Given the description of an element on the screen output the (x, y) to click on. 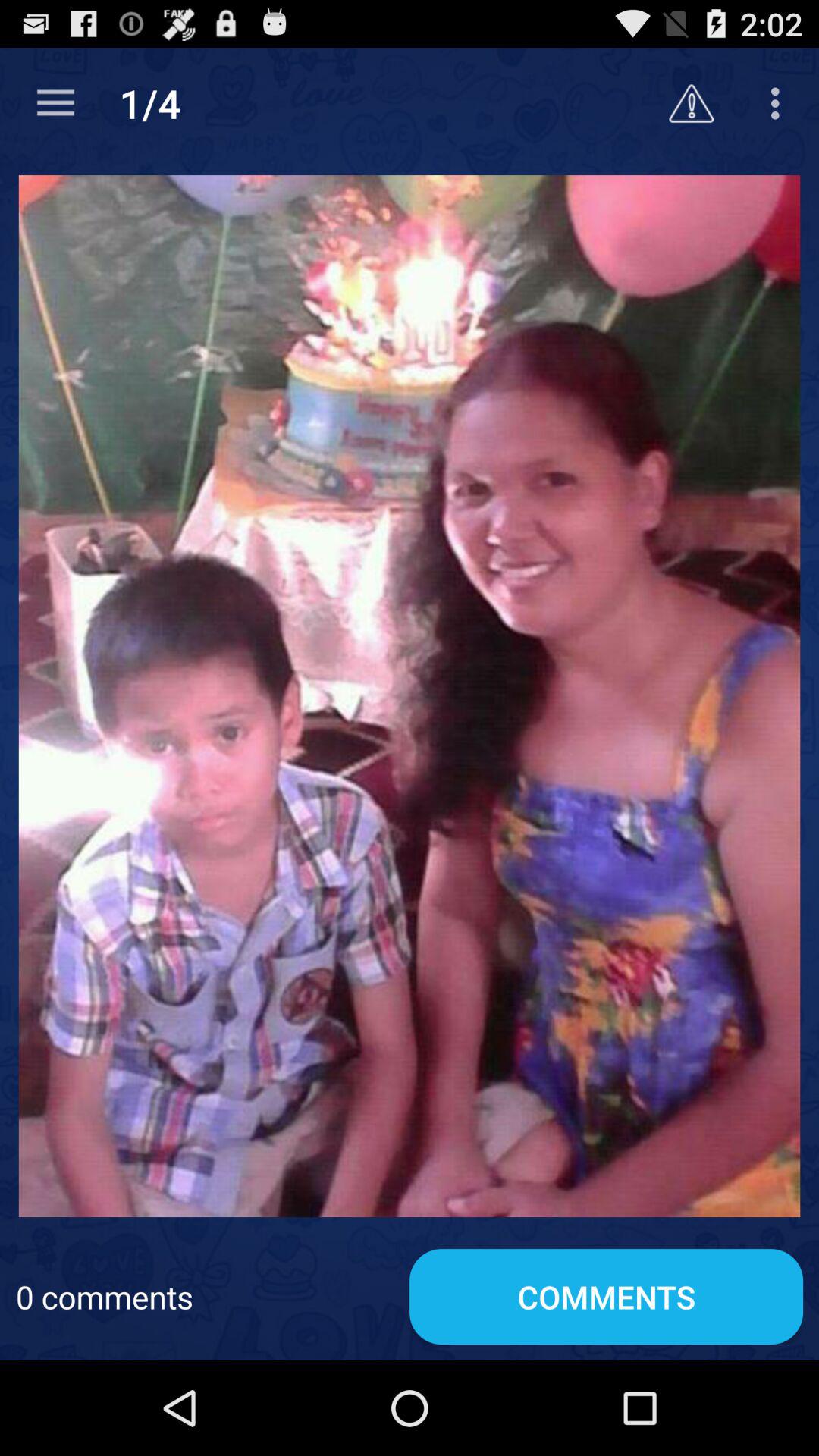
choose the icon at the center (409, 696)
